Given the description of an element on the screen output the (x, y) to click on. 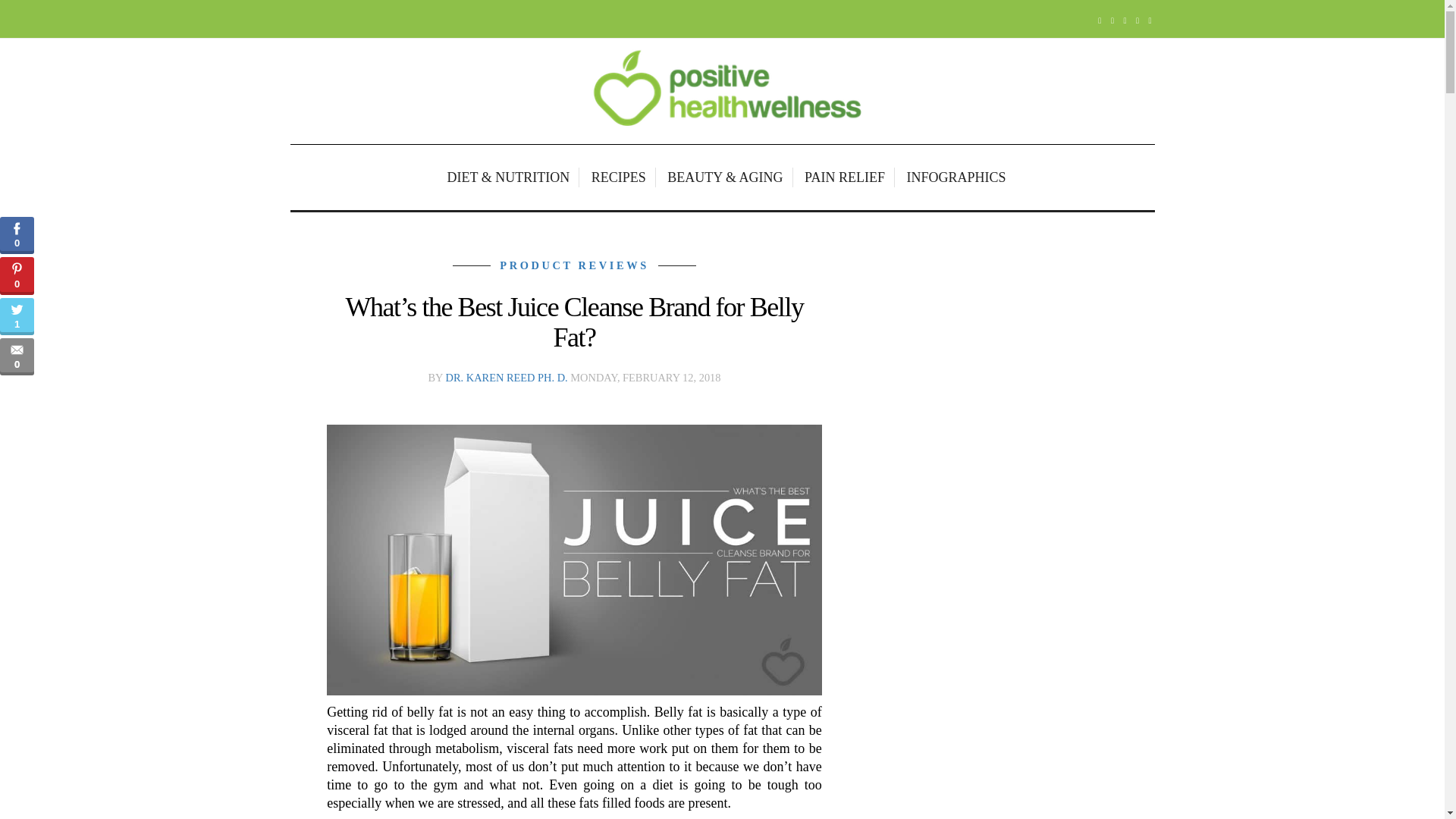
PAIN RELIEF (845, 177)
INFOGRAPHICS (952, 177)
RECIPES (619, 177)
Posts by Dr. Karen Reed Ph. D. (506, 377)
PRODUCT REVIEWS (574, 265)
DR. KAREN REED PH. D. (506, 377)
Researched and Credible Health Advice (721, 91)
